Given the description of an element on the screen output the (x, y) to click on. 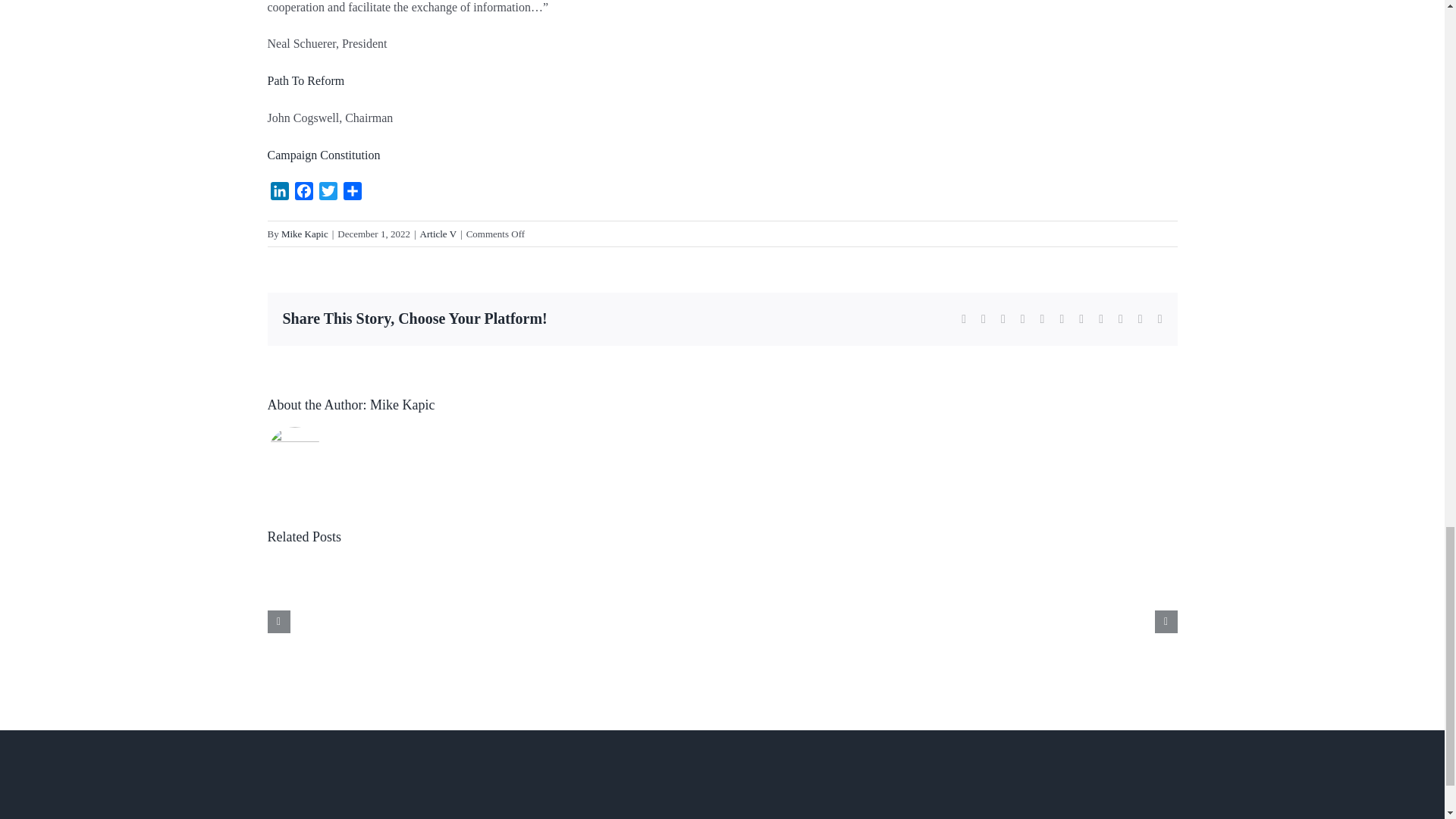
Posts by Mike Kapic (305, 233)
Facebook (303, 193)
Campaign Constitution (323, 154)
Twitter (327, 193)
LinkedIn (278, 193)
Twitter (327, 193)
Article V (438, 233)
Mike Kapic (305, 233)
LinkedIn (278, 193)
Mike Kapic (401, 404)
